Given the description of an element on the screen output the (x, y) to click on. 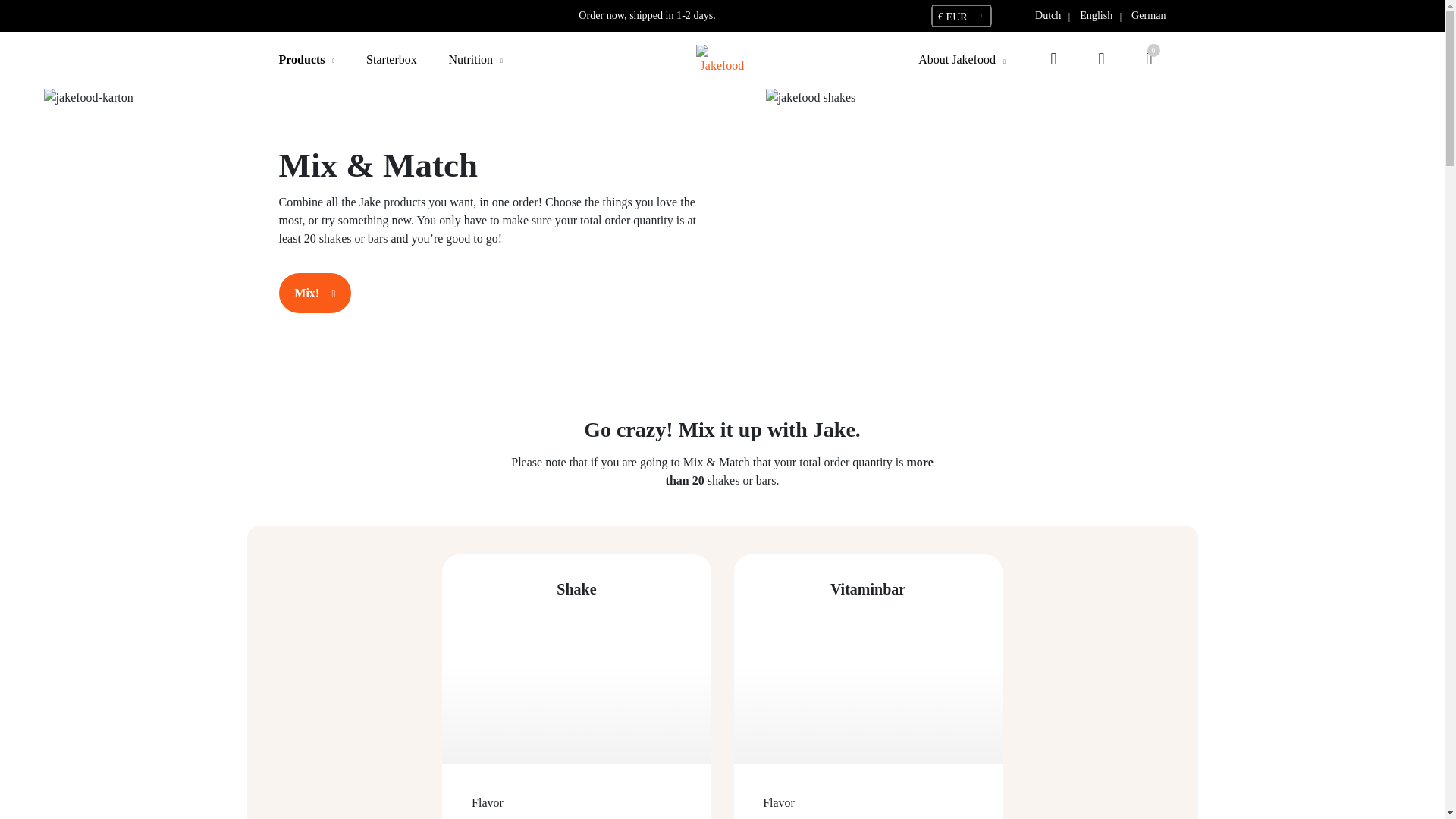
Dutch (1047, 14)
About Jakefood (956, 59)
English (1096, 14)
German (1148, 14)
Nutrition (470, 59)
English (1096, 14)
Dutch (1047, 14)
German (1148, 14)
Starterbox (391, 59)
Products (301, 59)
